Given the description of an element on the screen output the (x, y) to click on. 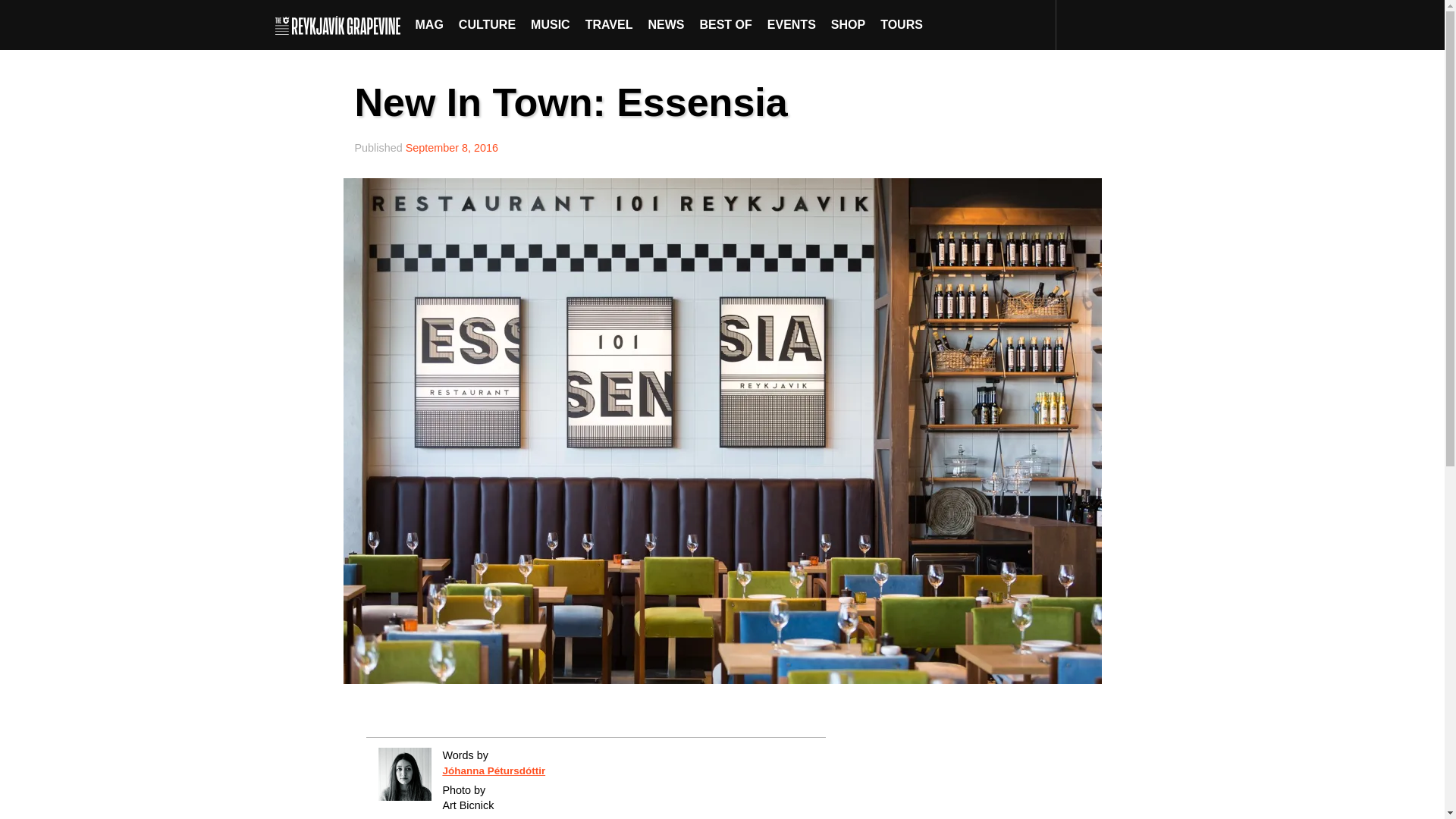
TOURS (901, 24)
SHOP (848, 24)
TRAVEL (609, 24)
EVENTS (792, 24)
MUSIC (550, 24)
The Reykjavik Grapevine (341, 24)
NEWS (665, 24)
BEST OF (724, 24)
CULTURE (486, 24)
